Given the description of an element on the screen output the (x, y) to click on. 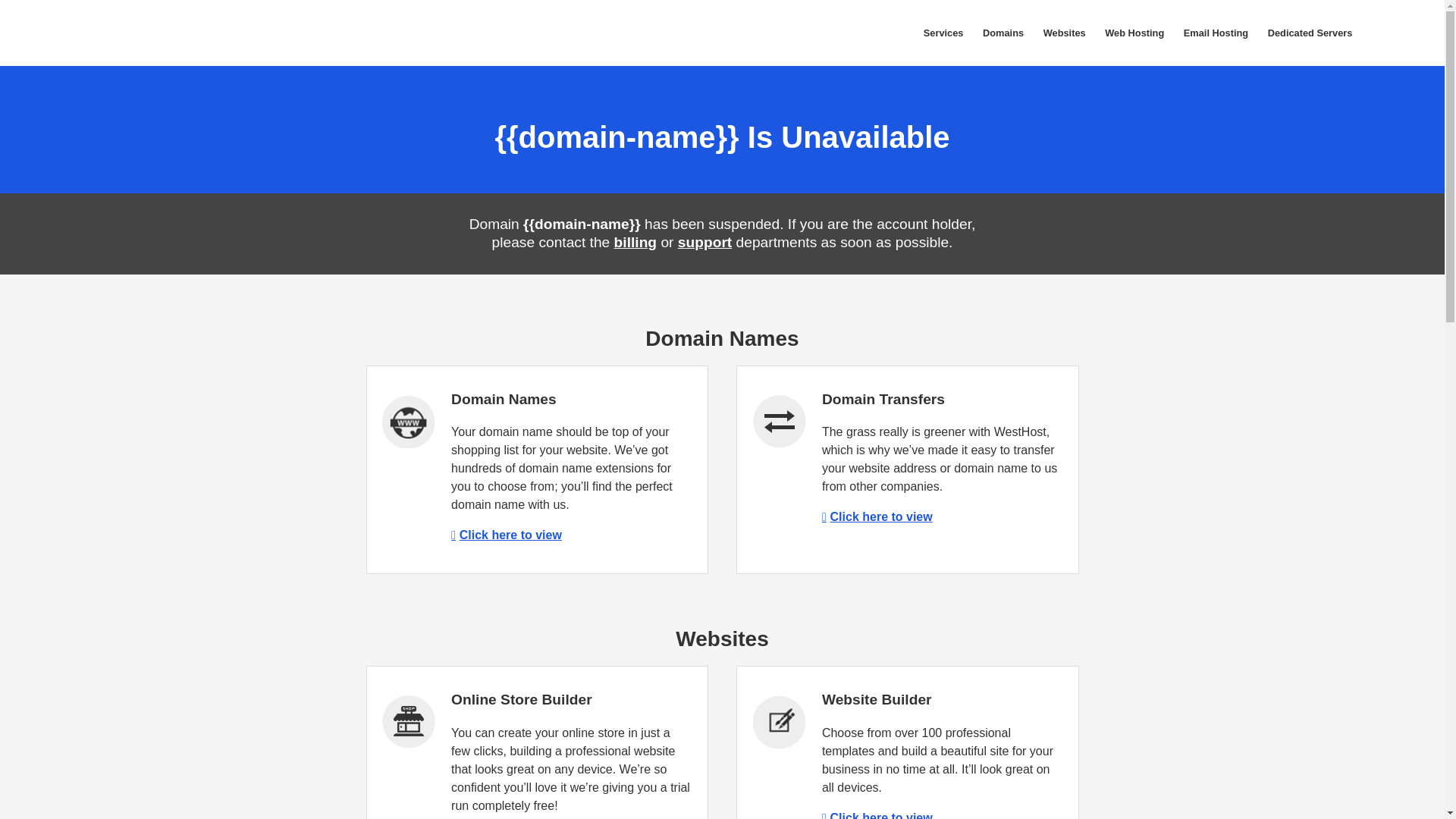
Dedicated Servers (1309, 32)
Click here to view (877, 516)
Web Hosting (1133, 32)
Services (943, 32)
support (705, 242)
Click here to view (877, 815)
billing (636, 242)
Email Hosting (1215, 32)
Domains (1002, 32)
Websites (1064, 32)
